Given the description of an element on the screen output the (x, y) to click on. 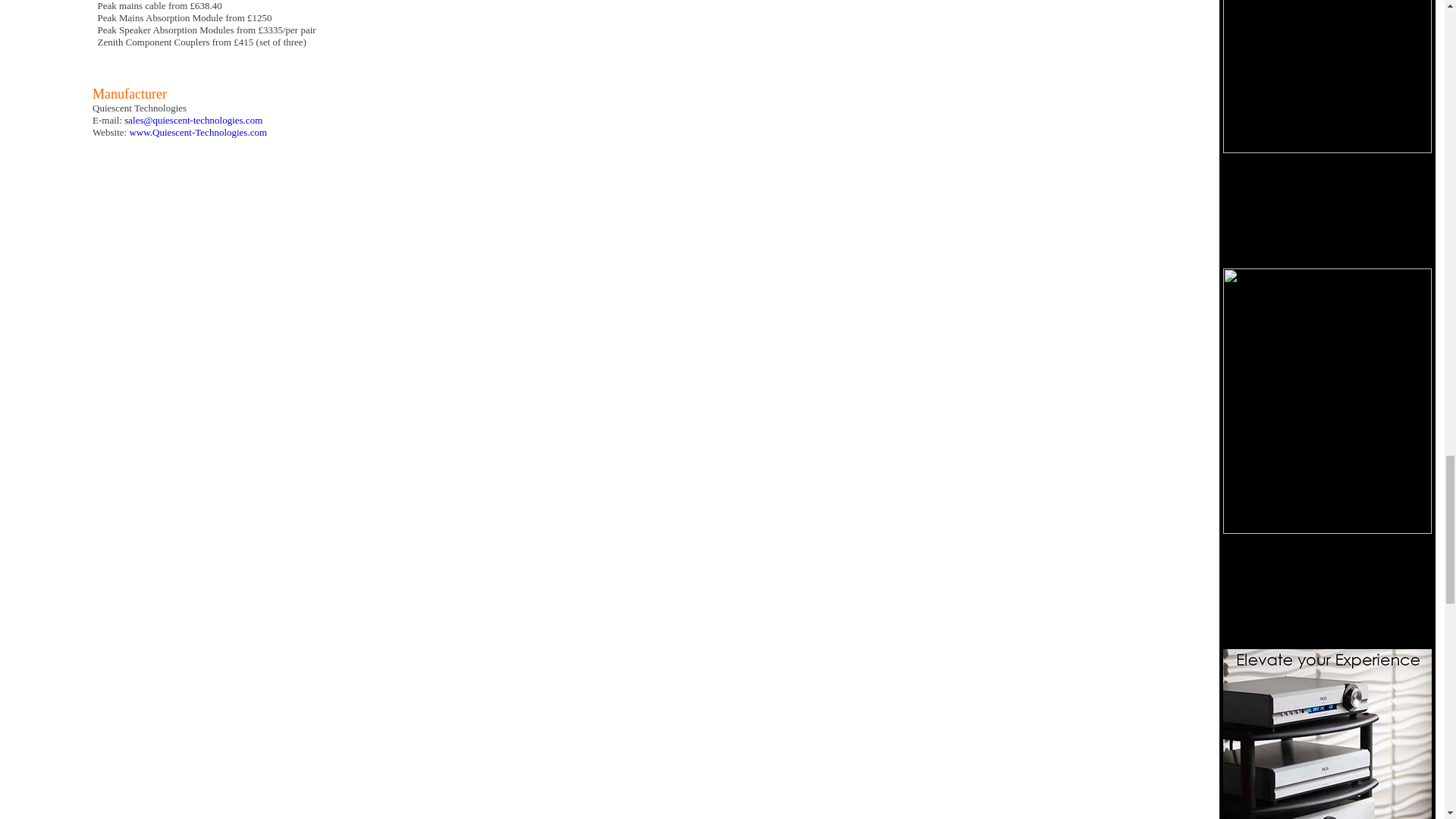
www.Quiescent-Technologies.com (197, 132)
